Given the description of an element on the screen output the (x, y) to click on. 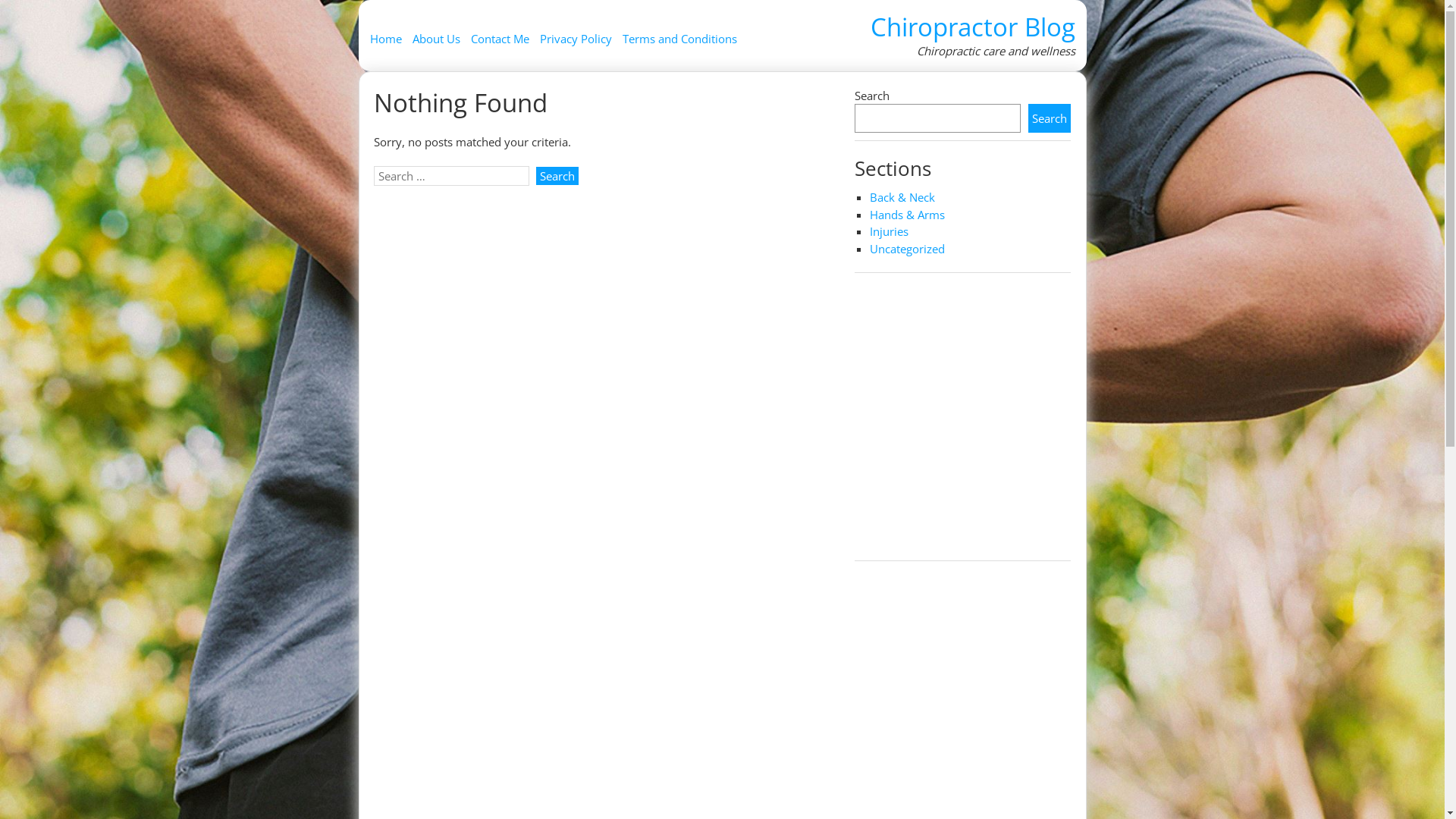
Chiropractor Blog Element type: text (972, 26)
Privacy Policy Element type: text (575, 40)
About Us Element type: text (436, 40)
Search Element type: text (1049, 117)
Back & Neck Element type: text (902, 196)
Hands & Arms Element type: text (906, 214)
Contact Me Element type: text (499, 40)
How to Prevent and Reduce Muscular Back Pain Element type: hover (962, 418)
Home Element type: text (385, 40)
Injuries Element type: text (888, 230)
Search Element type: text (557, 175)
Uncategorized Element type: text (906, 248)
Terms and Conditions Element type: text (678, 40)
